Given the description of an element on the screen output the (x, y) to click on. 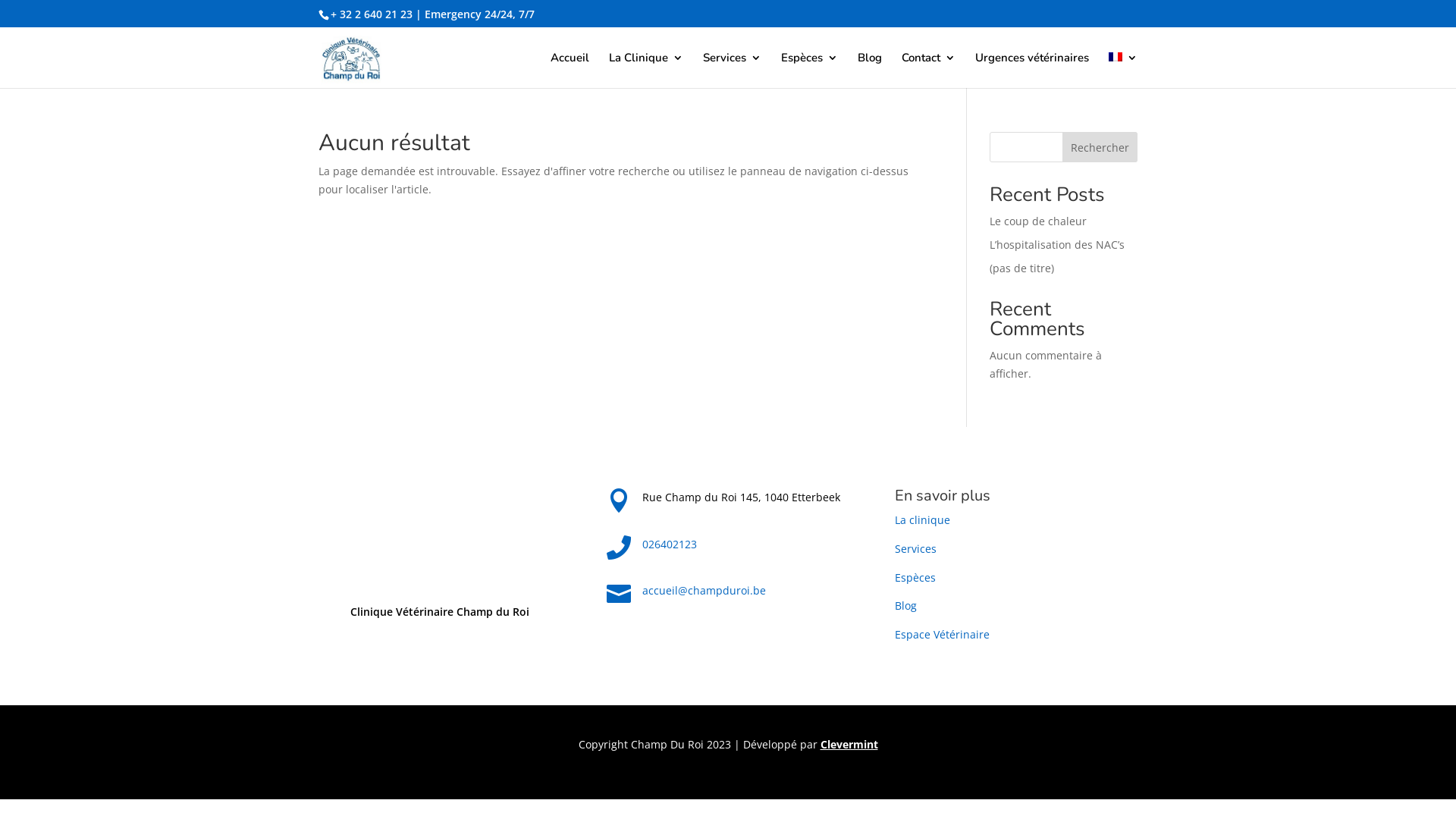
026402123 Element type: text (669, 543)
Le coup de chaleur Element type: text (1037, 220)
Blog Element type: text (869, 69)
La Clinique Element type: text (645, 69)
Accueil Element type: text (569, 69)
La clinique Element type: text (922, 519)
(pas de titre) Element type: text (1021, 267)
Contact Element type: text (928, 69)
+ 32 2 640 21 23 Element type: text (371, 13)
Blog Element type: text (905, 605)
Clevermint Element type: text (849, 744)
Rechercher Element type: text (1099, 146)
CliniqueVetChampduRoi7VECT_2011 Element type: hover (439, 534)
Services Element type: text (915, 548)
accueil@champduroi.be Element type: text (703, 590)
Services Element type: text (731, 69)
